Given the description of an element on the screen output the (x, y) to click on. 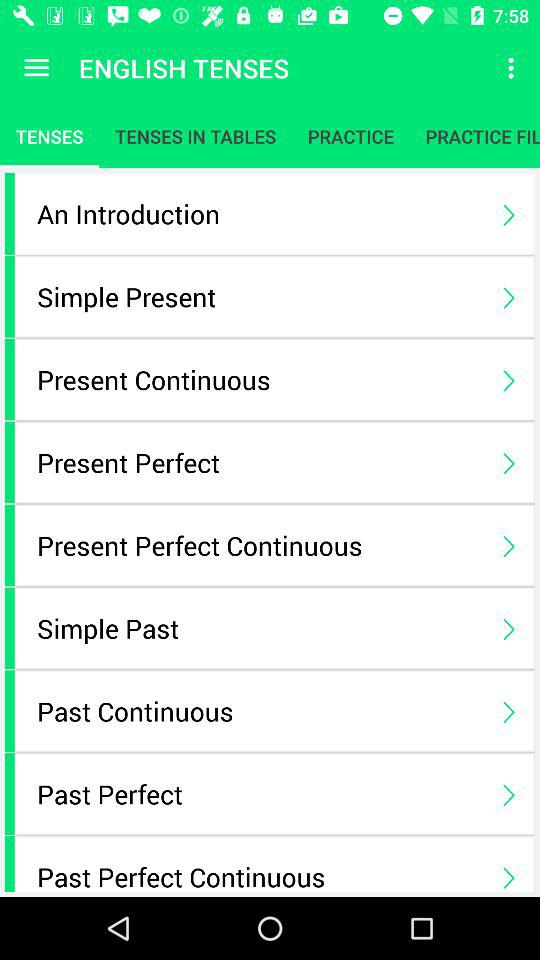
open icon below the tenses icon (259, 213)
